Given the description of an element on the screen output the (x, y) to click on. 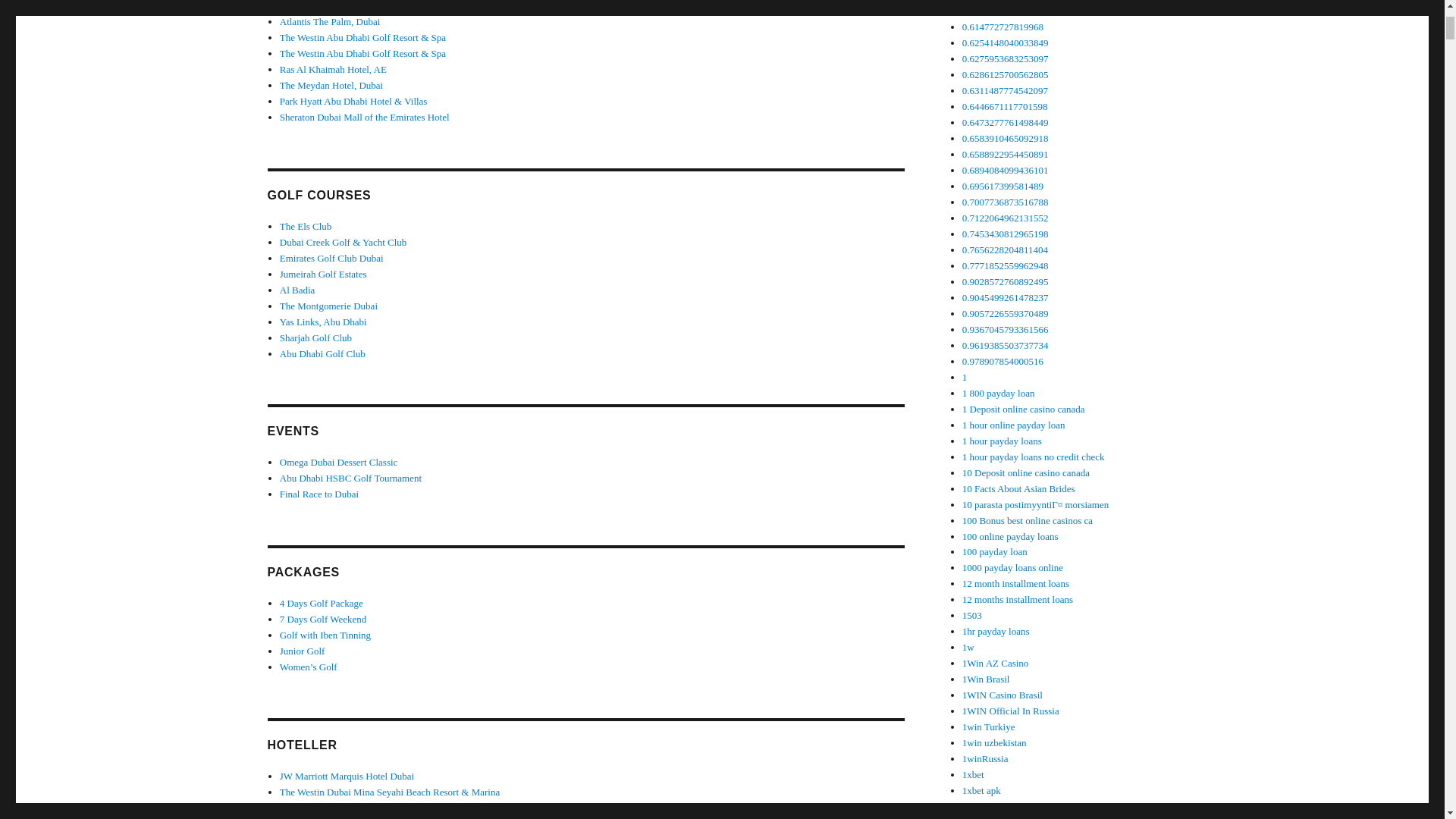
Ras Al Khaimah Hotel, AE (333, 69)
Junior Golf (301, 650)
7 Days Golf Weekend (322, 618)
Abu Dhabi Golf Club (322, 352)
Yas Links, Abu Dhabi (322, 321)
4 Days Golf Package (320, 603)
Jumeirah Beach Hotel, Dubai (337, 5)
The Montgomerie Dubai (328, 306)
Omega Dubai Dessert Classic (338, 461)
